Given the description of an element on the screen output the (x, y) to click on. 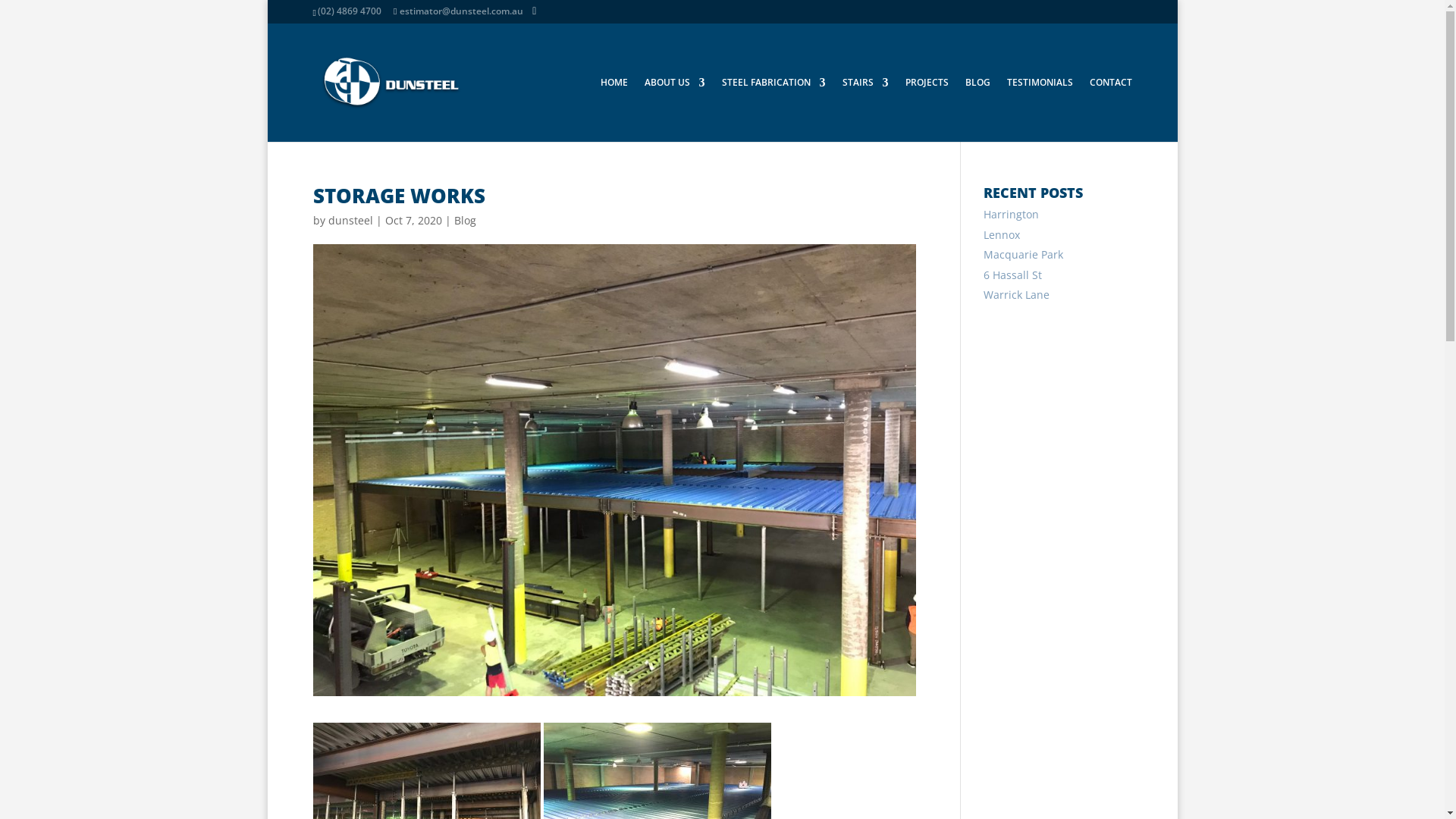
6 Hassall St Element type: text (1012, 274)
Warrick Lane Element type: text (1016, 294)
PROJECTS Element type: text (926, 109)
CONTACT Element type: text (1109, 109)
STEEL FABRICATION Element type: text (773, 109)
estimator@dunsteel.com.au Element type: text (458, 10)
HOME Element type: text (613, 109)
Blog Element type: text (464, 220)
dunsteel Element type: text (349, 220)
STAIRS Element type: text (864, 109)
TESTIMONIALS Element type: text (1040, 109)
ABOUT US Element type: text (674, 109)
Harrington Element type: text (1010, 214)
Macquarie Park Element type: text (1023, 254)
BLOG Element type: text (976, 109)
Lennox Element type: text (1001, 234)
